Given the description of an element on the screen output the (x, y) to click on. 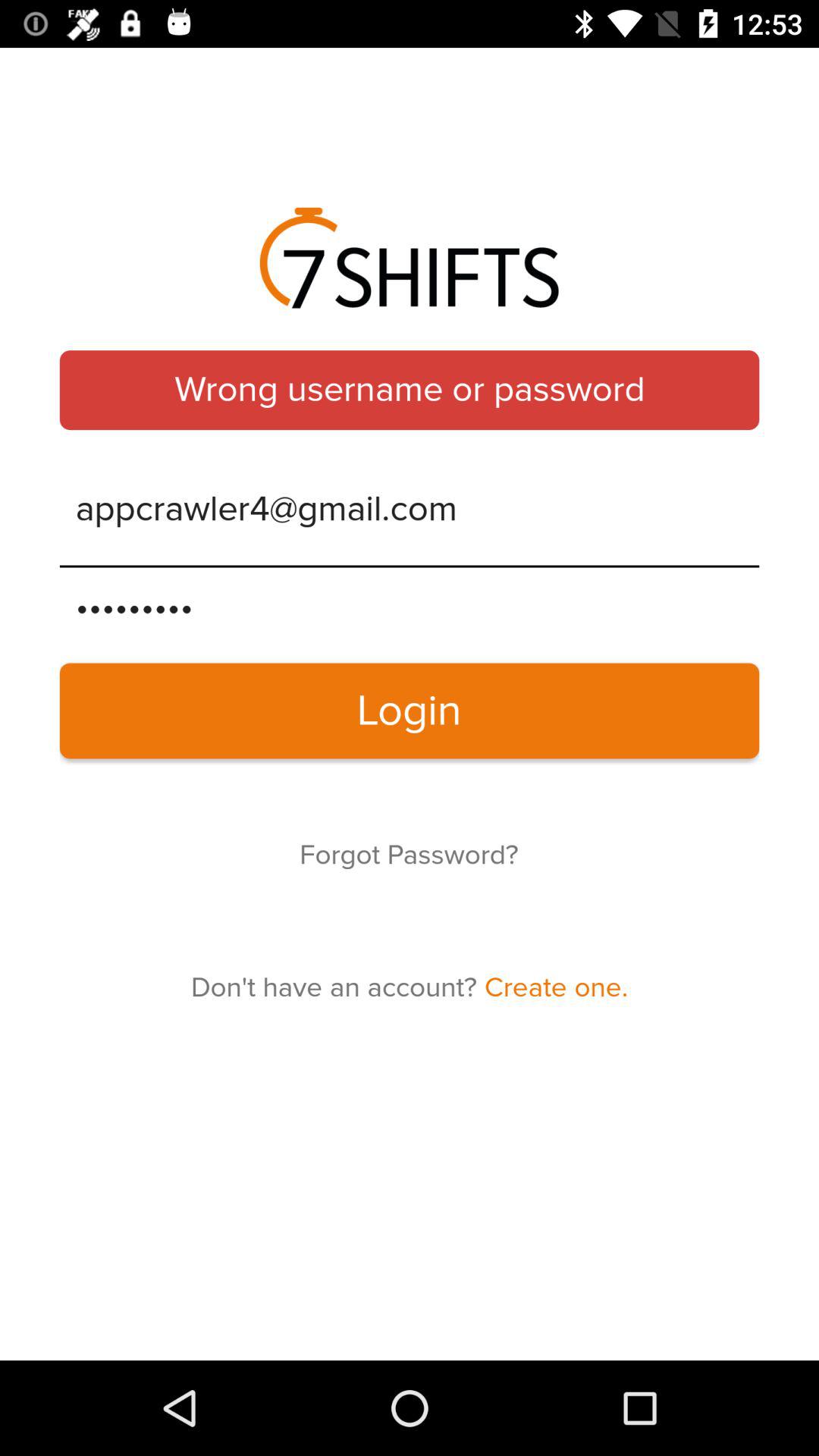
jump to the login (409, 710)
